Given the description of an element on the screen output the (x, y) to click on. 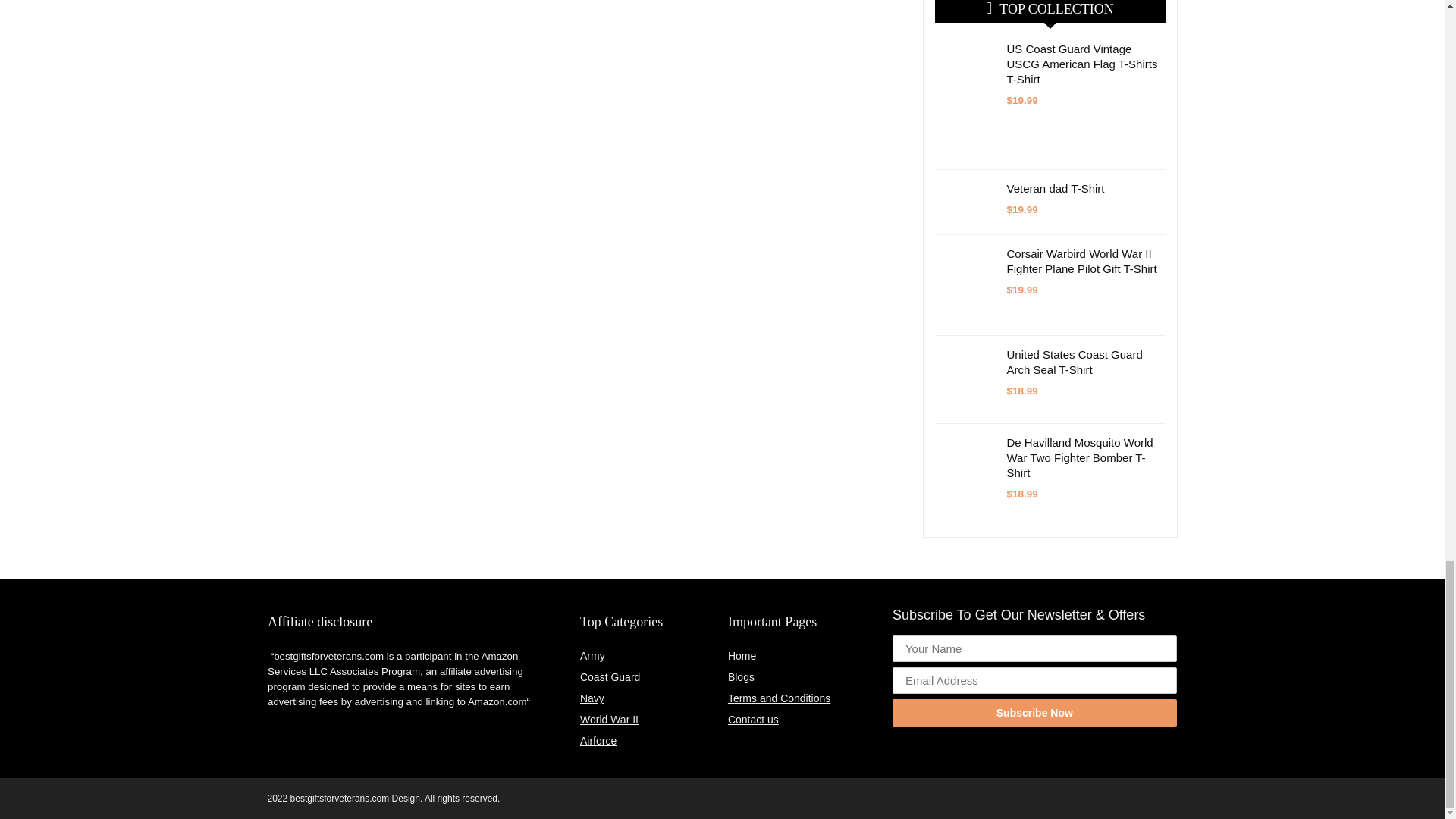
Subscribe Now (1034, 713)
